Given the description of an element on the screen output the (x, y) to click on. 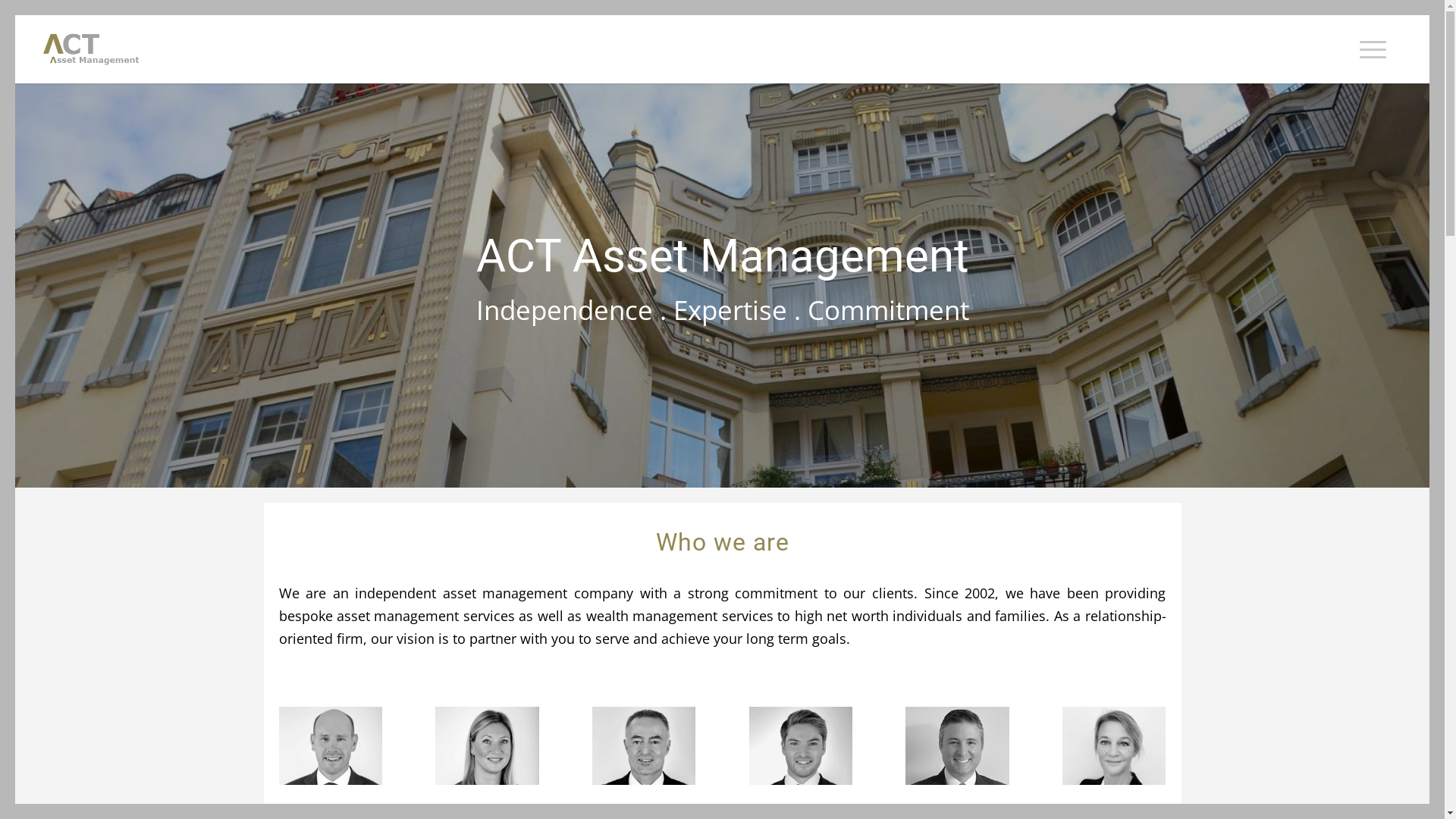
sterneby-bg Element type: hover (722, 284)
